Given the description of an element on the screen output the (x, y) to click on. 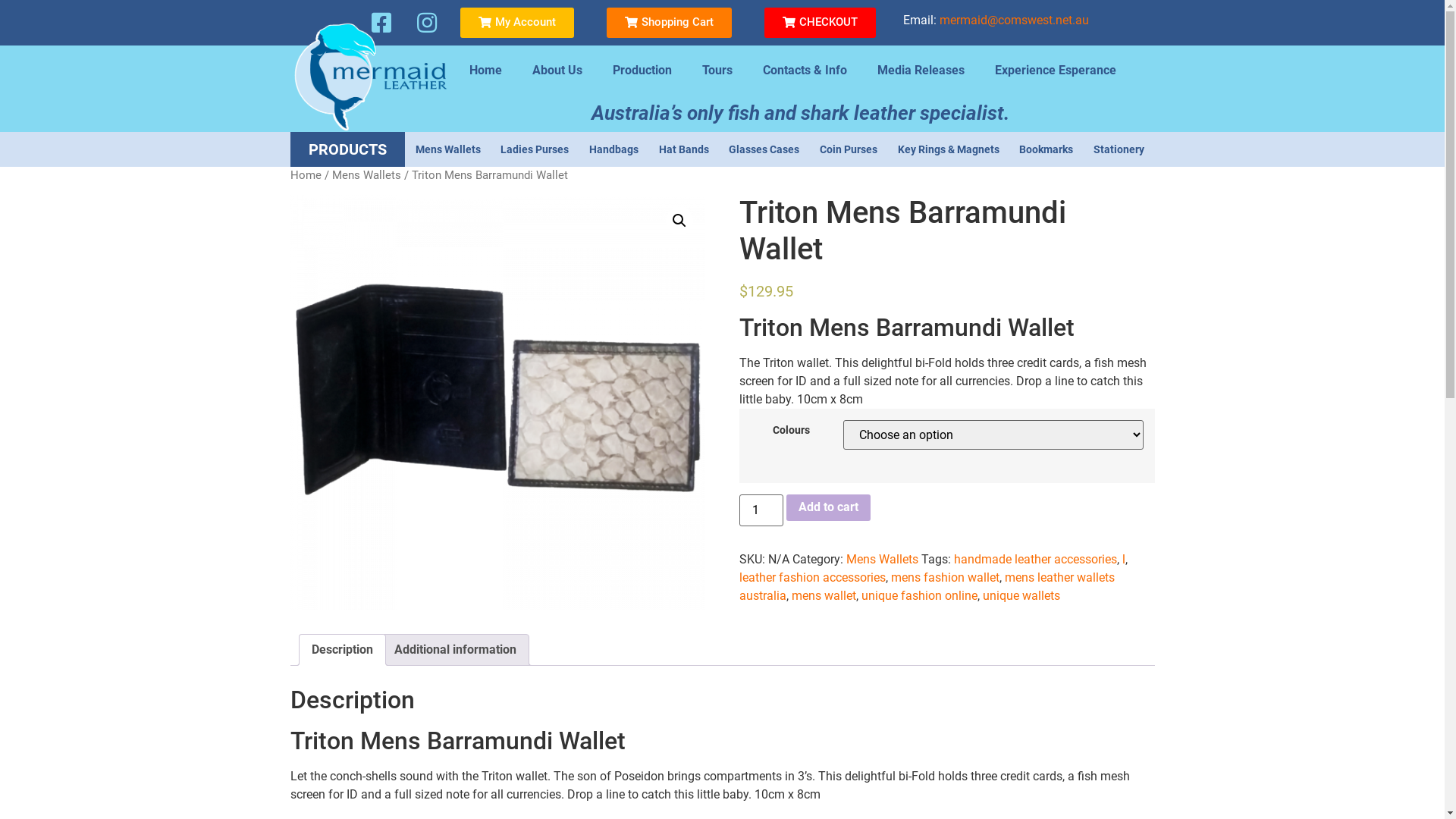
mens wallet Element type: text (823, 595)
Hat Bands Element type: text (683, 148)
CHECKOUT Element type: text (819, 22)
mens leather wallets australia Element type: text (926, 586)
About Us Element type: text (557, 70)
My Account Element type: text (517, 22)
Shopping Cart Element type: text (668, 22)
Ladies Purses Element type: text (534, 148)
Triton Mens Barramundi Wallet Element type: hover (496, 401)
Home Element type: text (304, 175)
Stationery Element type: text (1118, 148)
Key Rings & Magnets Element type: text (948, 148)
Coin Purses Element type: text (848, 148)
Mens Wallets Element type: text (447, 148)
Experience Esperance Element type: text (1055, 70)
Add to cart Element type: text (828, 507)
Tours Element type: text (717, 70)
Additional information Element type: text (455, 649)
Mens Wallets Element type: text (366, 175)
Handbags Element type: text (614, 148)
leather fashion accessories Element type: text (812, 577)
Production Element type: text (642, 70)
mermaid@comswest.net.au Element type: text (1013, 19)
Contacts & Info Element type: text (804, 70)
Mens Wallets Element type: text (882, 559)
Description Element type: text (341, 649)
Home Element type: text (485, 70)
Media Releases Element type: text (920, 70)
l Element type: text (1123, 559)
Glasses Cases Element type: text (763, 148)
unique wallets Element type: text (1021, 595)
unique fashion online Element type: text (919, 595)
mens fashion wallet Element type: text (945, 577)
handmade leather accessories Element type: text (1035, 559)
Bookmarks Element type: text (1046, 148)
